Given the description of an element on the screen output the (x, y) to click on. 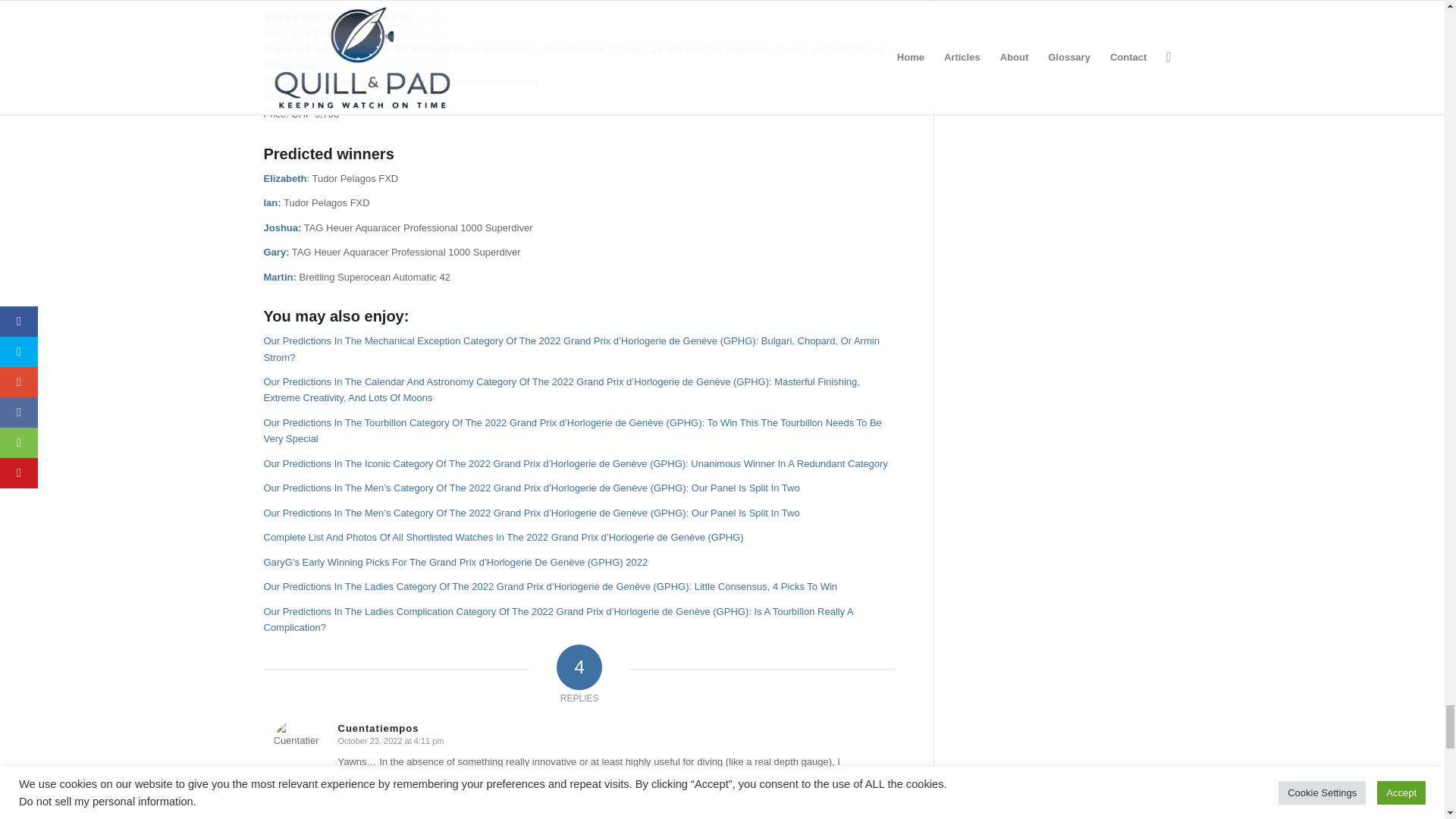
October 23, 2022 at 4:11 pm (390, 740)
Reply (348, 802)
